Given the description of an element on the screen output the (x, y) to click on. 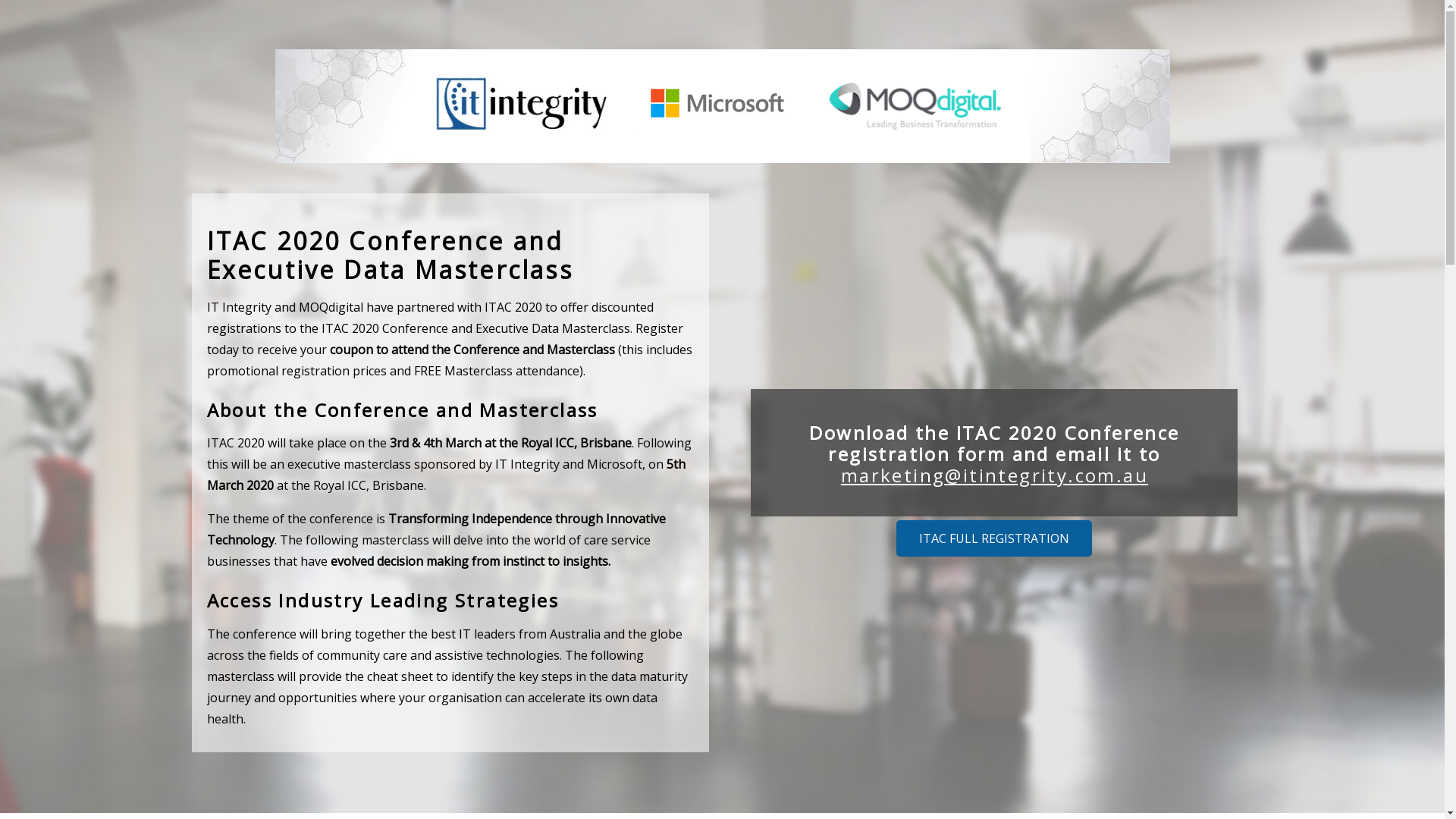
marketing@itintegrity.com.au Element type: text (994, 474)
ITAC FULL REGISTRATION Element type: text (994, 538)
ITAC 2020 Conference and Executive Data Masterclass Element type: hover (721, 106)
